Given the description of an element on the screen output the (x, y) to click on. 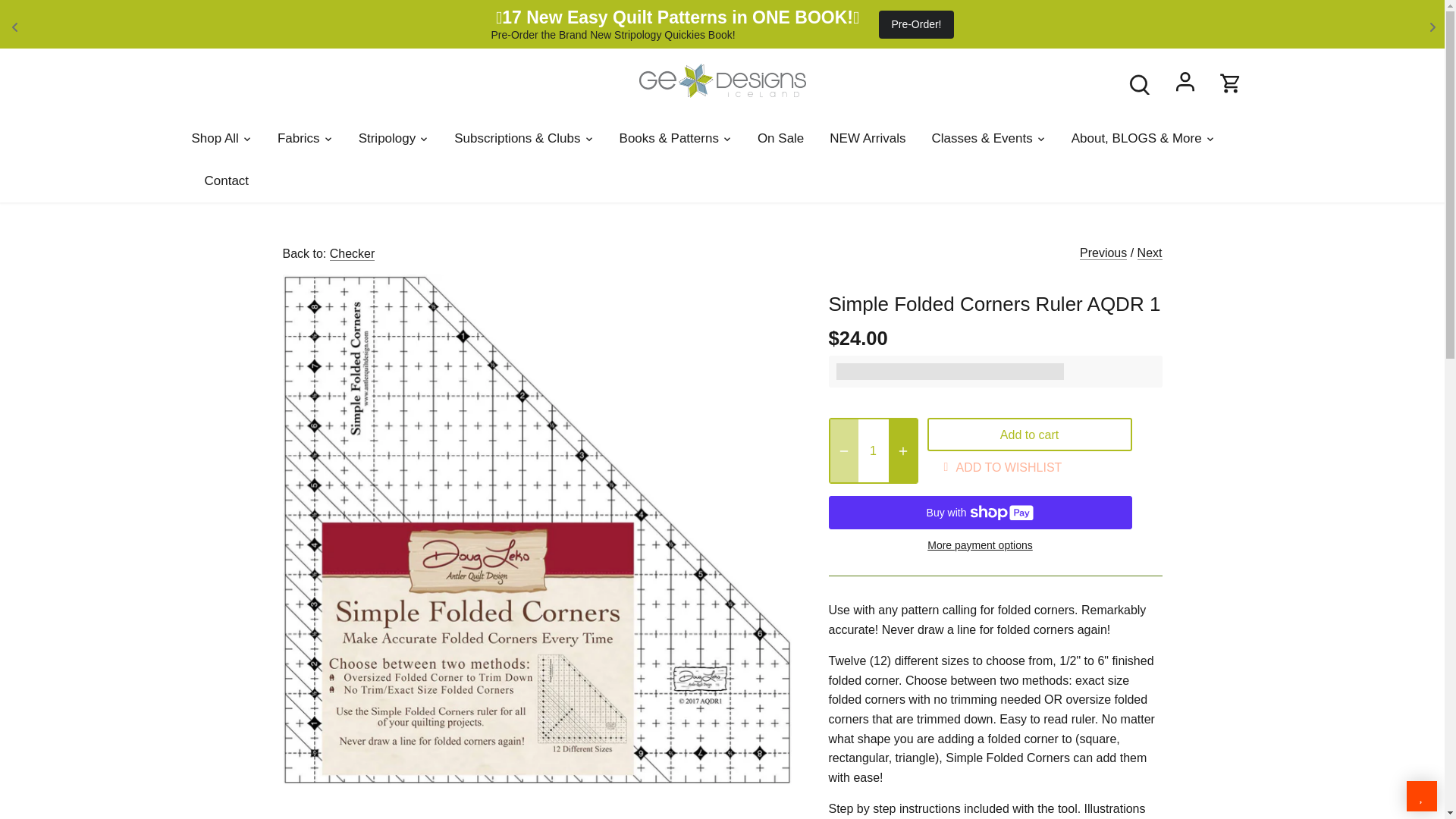
Shop All (220, 138)
Account Login (1184, 84)
Search (1139, 84)
1 (873, 450)
Checker (352, 254)
Search (1138, 83)
Account Login (1184, 83)
Pre-Order! (916, 24)
Go to cart (1230, 82)
